Given the description of an element on the screen output the (x, y) to click on. 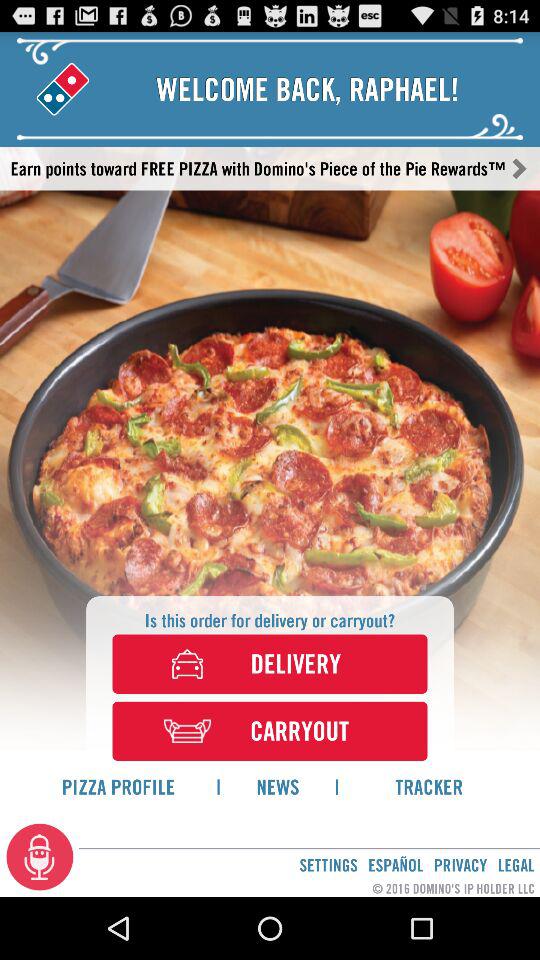
choose app next to | app (429, 786)
